Given the description of an element on the screen output the (x, y) to click on. 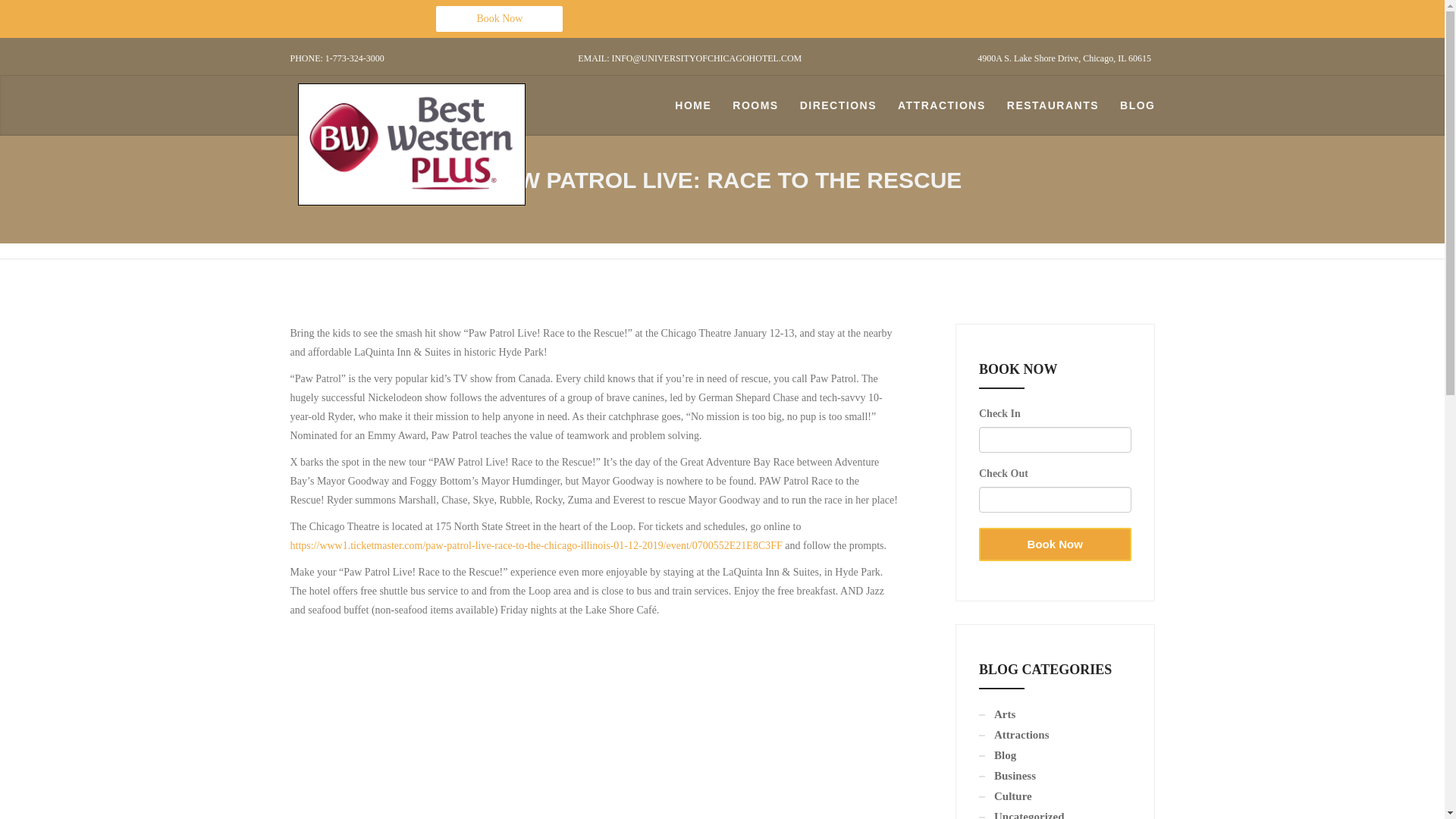
DIRECTIONS (837, 104)
Uncategorized (1021, 814)
Book Now (498, 18)
Culture (1005, 796)
Arts (996, 714)
Blog (997, 755)
Book Now (1054, 544)
ROOMS (755, 104)
RESTAURANTS (1052, 104)
PHONE: 1-773-324-3000 (425, 64)
Business (1006, 775)
HOME (692, 104)
ATTRACTIONS (940, 104)
BLOG (1137, 104)
Attractions (1013, 734)
